Given the description of an element on the screen output the (x, y) to click on. 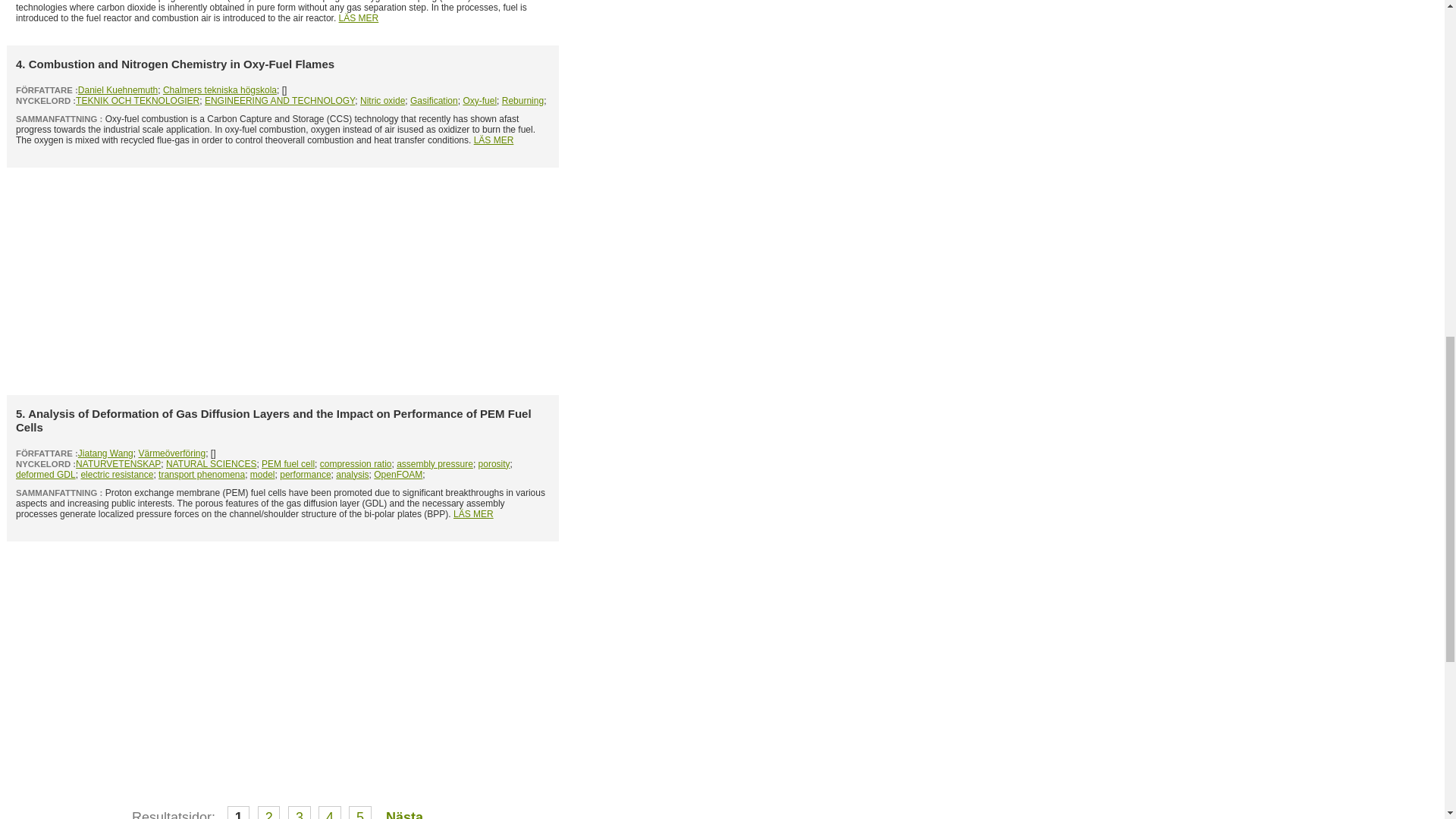
Advertisement (283, 281)
Advertisement (283, 654)
